Given the description of an element on the screen output the (x, y) to click on. 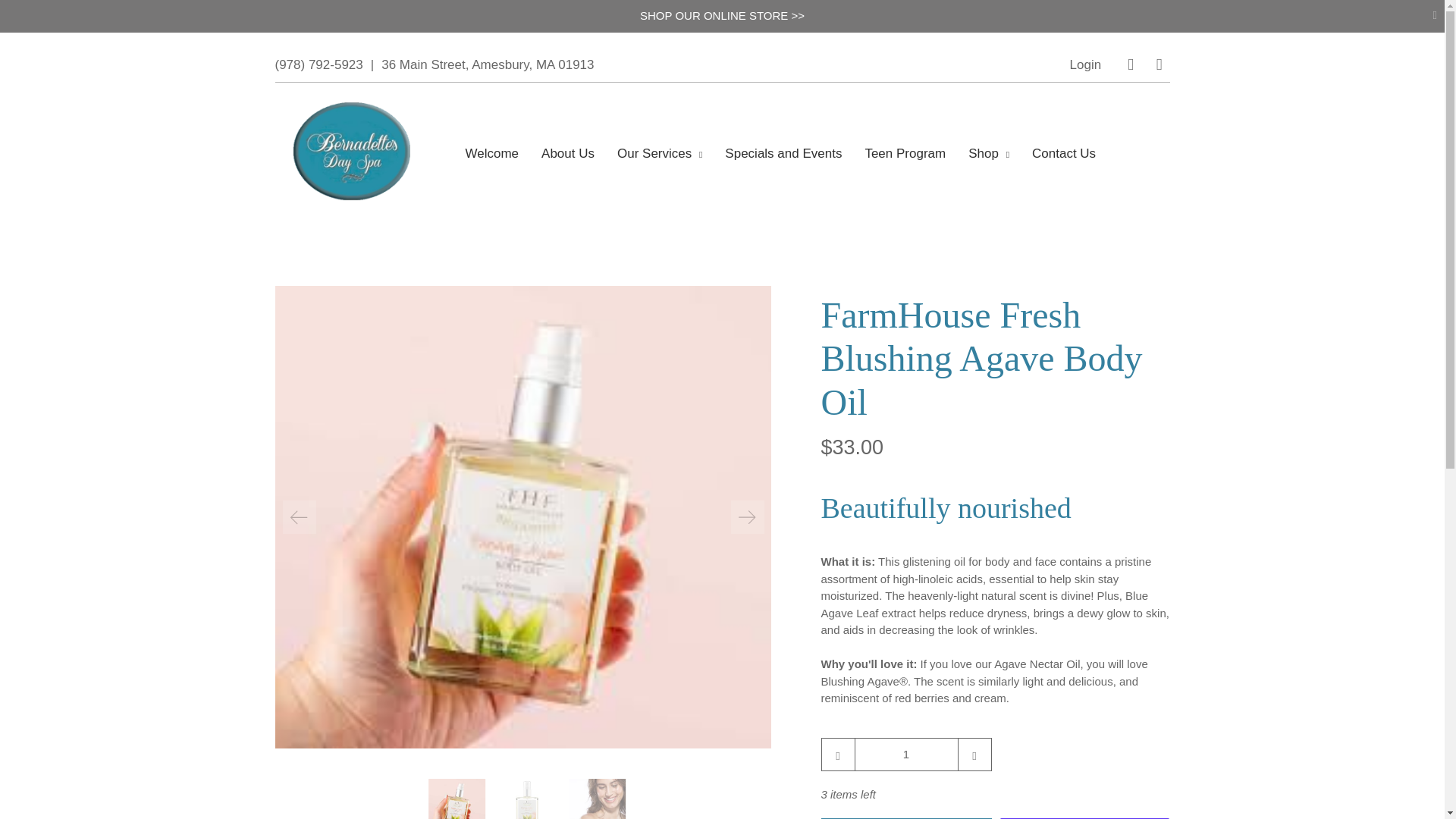
Specials and Events (782, 153)
Our Services (660, 153)
Shop (988, 153)
1 (905, 753)
My Account  (1086, 64)
Teen Program (905, 153)
Login (1086, 64)
About Us (568, 153)
Contact Us (1064, 153)
